Given the description of an element on the screen output the (x, y) to click on. 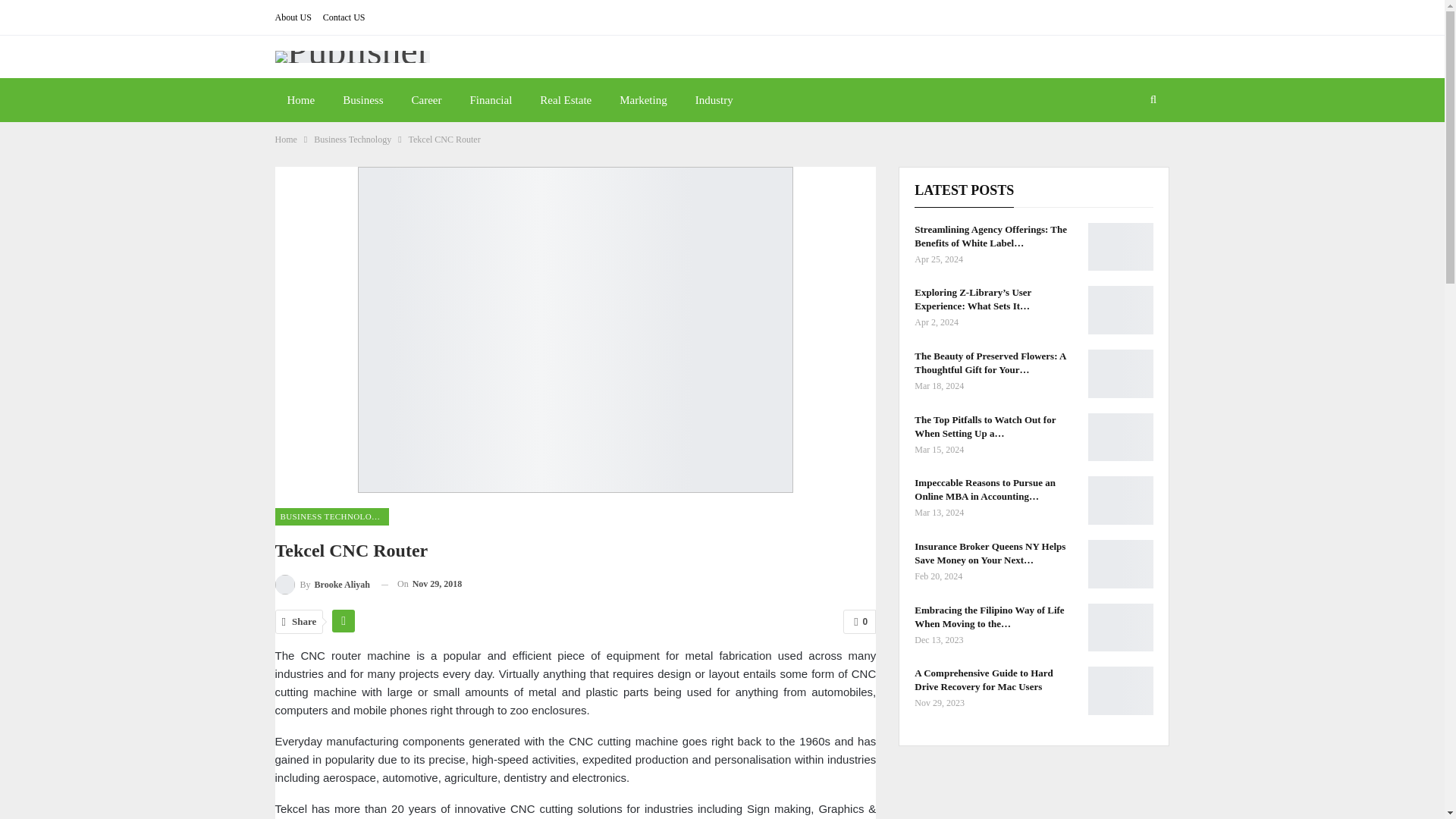
By Brooke Aliyah (322, 584)
Financial (490, 99)
Business (362, 99)
Career (426, 99)
0 (859, 621)
Industry (713, 99)
Browse Author Articles (322, 584)
About US (293, 17)
Contact US (344, 17)
Home (286, 139)
Home (300, 99)
Marketing (642, 99)
Business Technology (352, 139)
BUSINESS TECHNOLOGY (331, 516)
Real Estate (565, 99)
